Given the description of an element on the screen output the (x, y) to click on. 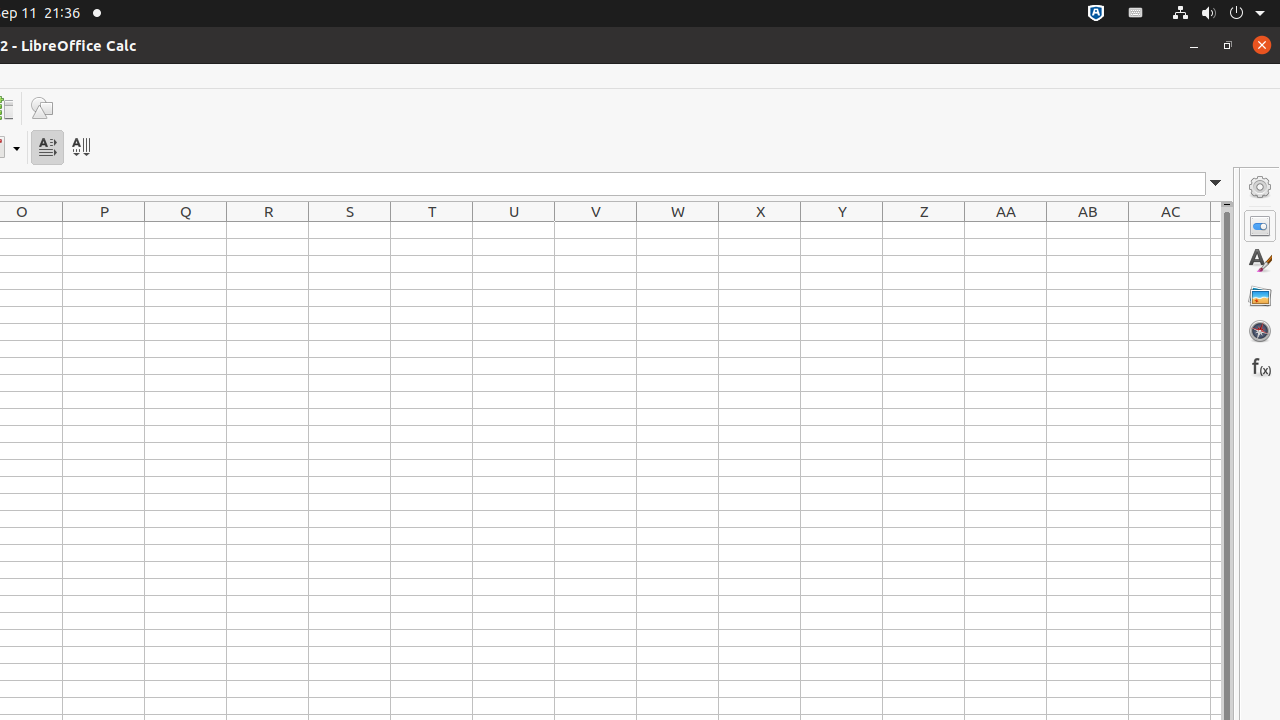
AD1 Element type: table-cell (1216, 230)
Functions Element type: radio-button (1260, 366)
V1 Element type: table-cell (596, 230)
Gallery Element type: radio-button (1260, 296)
Q1 Element type: table-cell (186, 230)
